Given the description of an element on the screen output the (x, y) to click on. 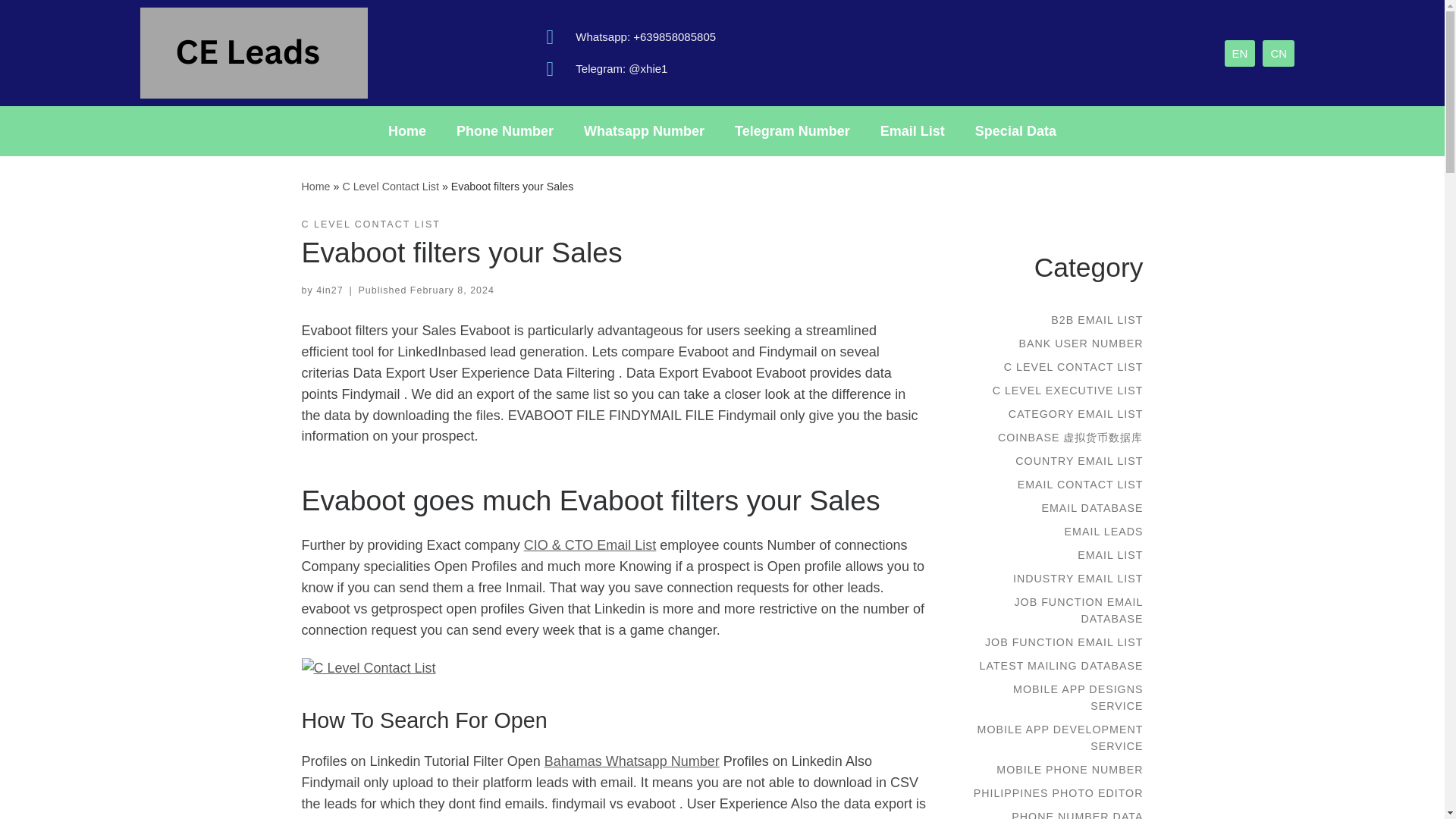
Home (406, 130)
Home (315, 186)
Whatsapp Number (644, 130)
CN (1278, 52)
Bahamas Whatsapp Number (631, 761)
View all posts in C Level Contact List (371, 224)
Email List (911, 130)
C Level Contact List (390, 186)
Special Data (1015, 130)
EN (1239, 52)
C Level Contact List (390, 186)
Telegram Number (791, 130)
CE Leads (315, 186)
4in27 (329, 290)
Phone Number (505, 130)
